Given the description of an element on the screen output the (x, y) to click on. 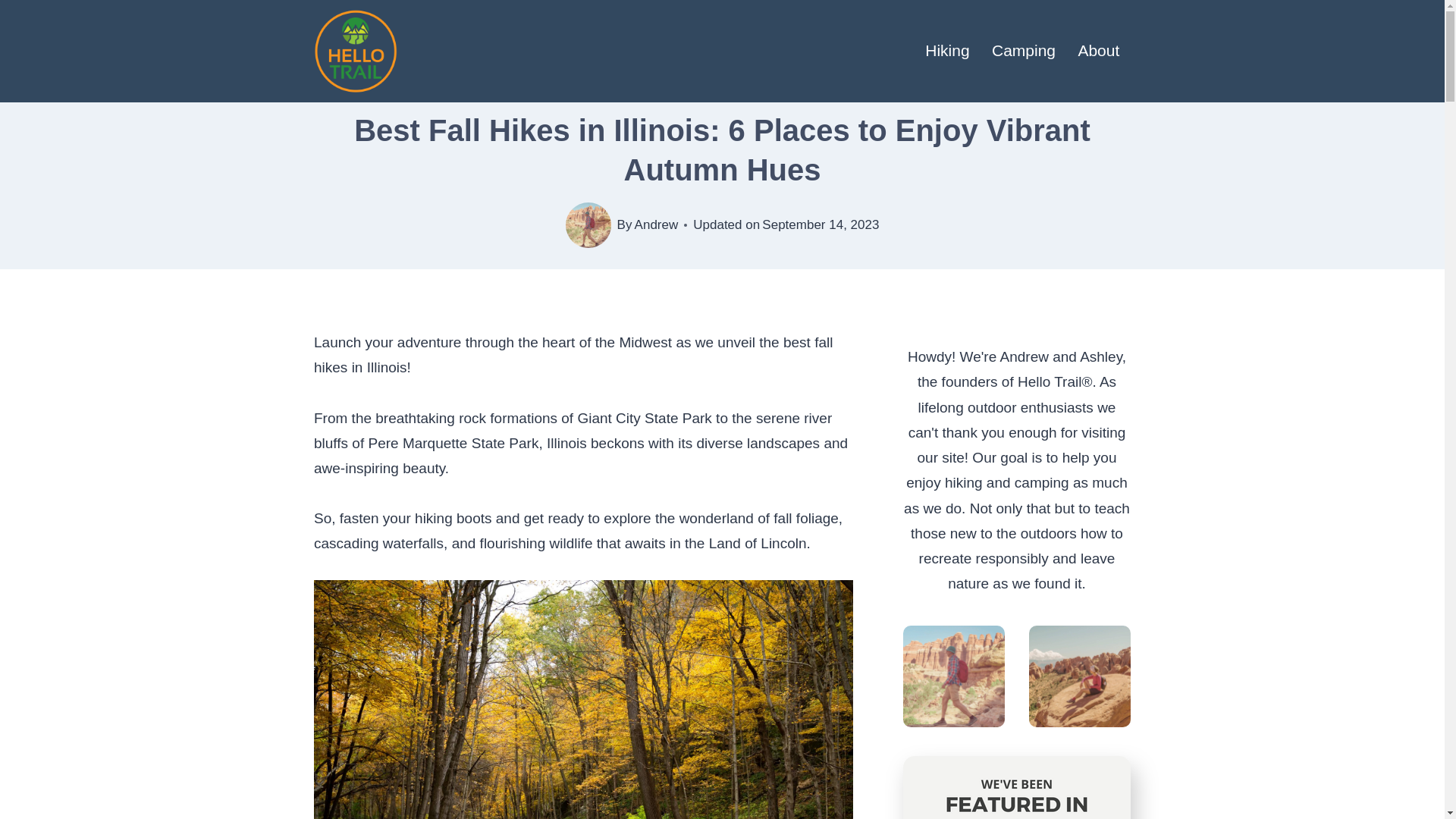
About (1099, 51)
Hiking (947, 51)
Camping (1022, 51)
